Given the description of an element on the screen output the (x, y) to click on. 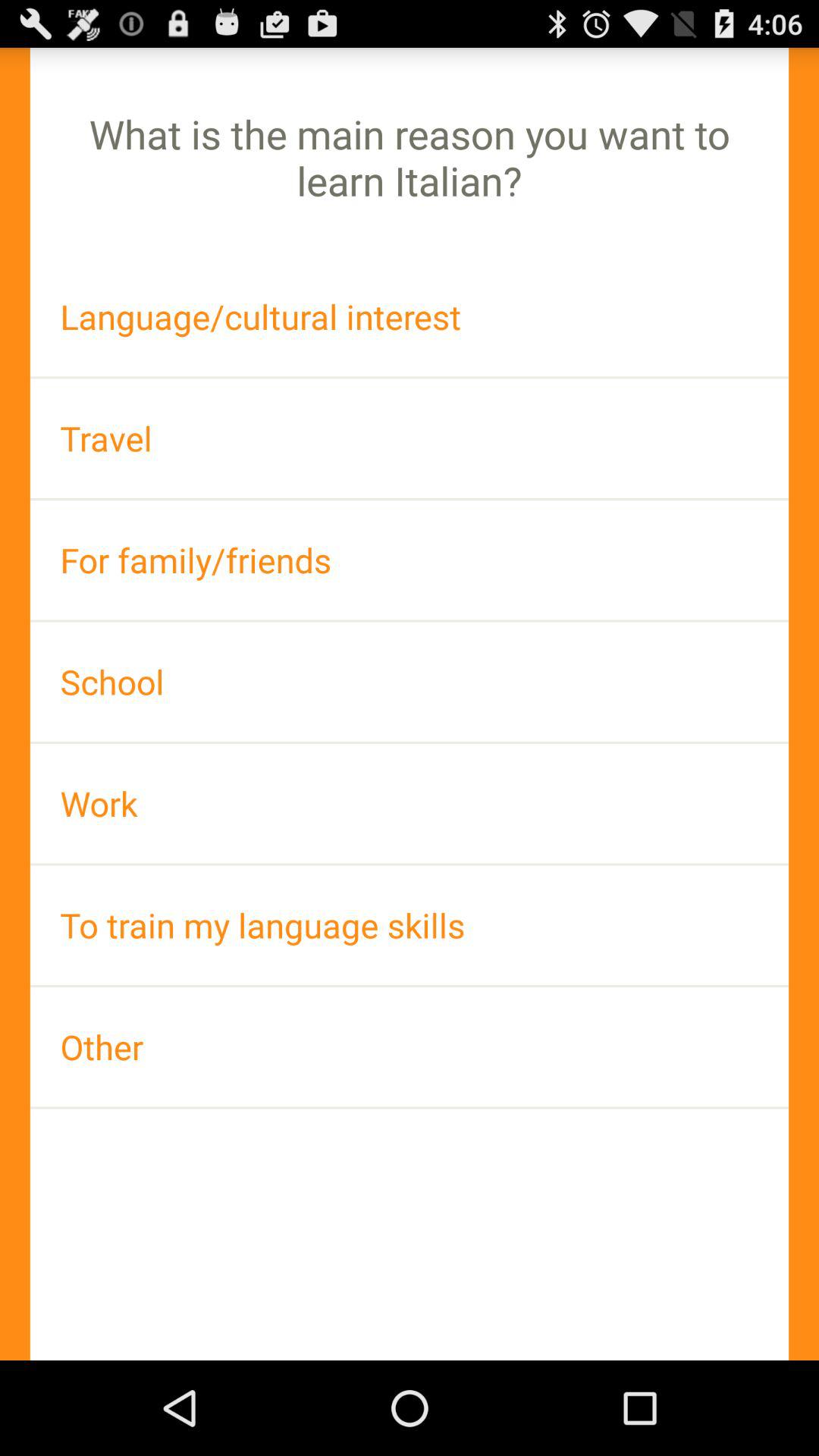
jump to the for family/friends item (409, 559)
